Given the description of an element on the screen output the (x, y) to click on. 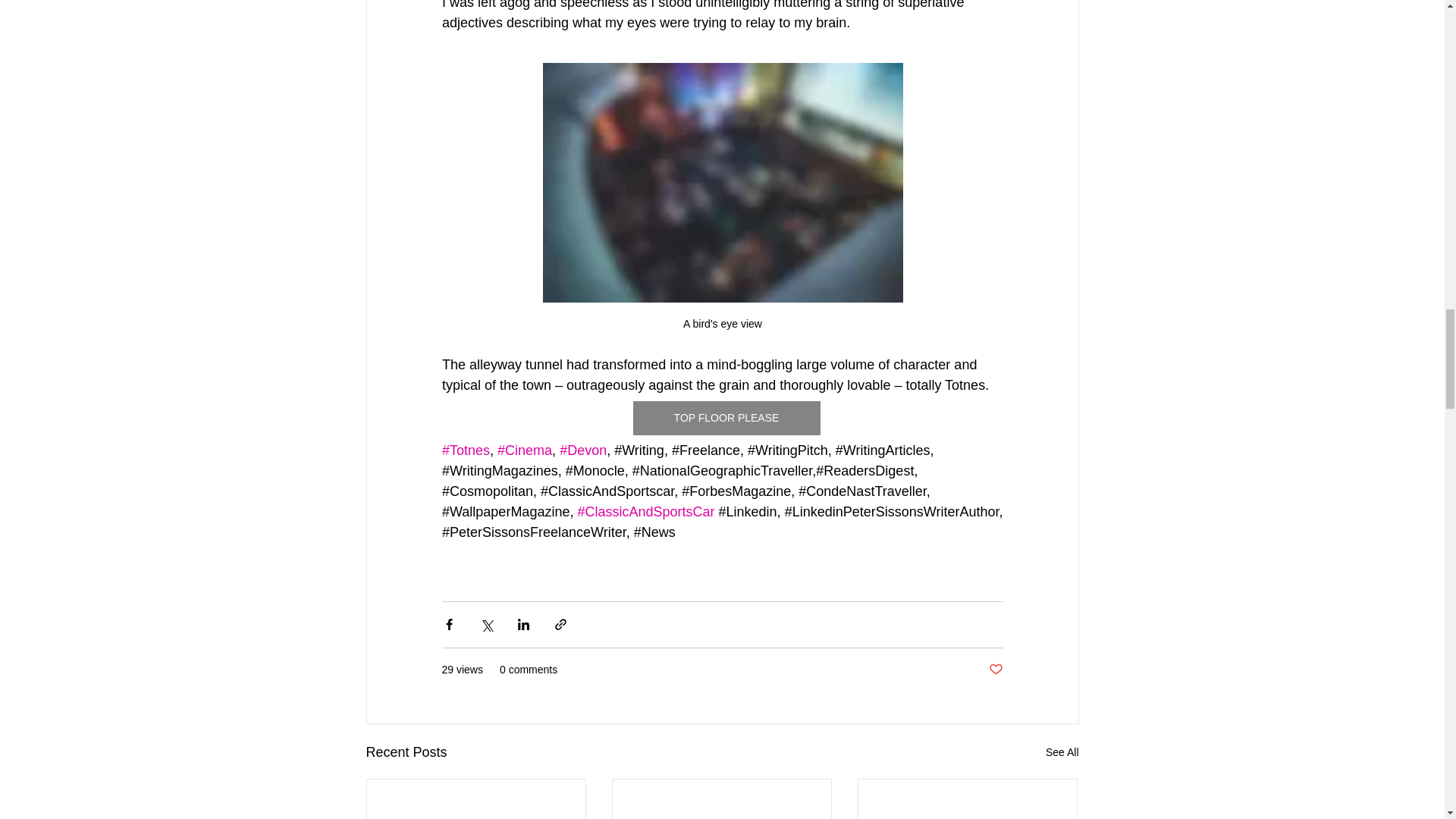
TOP FLOOR PLEASE (725, 417)
Post not marked as liked (995, 669)
See All (1061, 752)
